Given the description of an element on the screen output the (x, y) to click on. 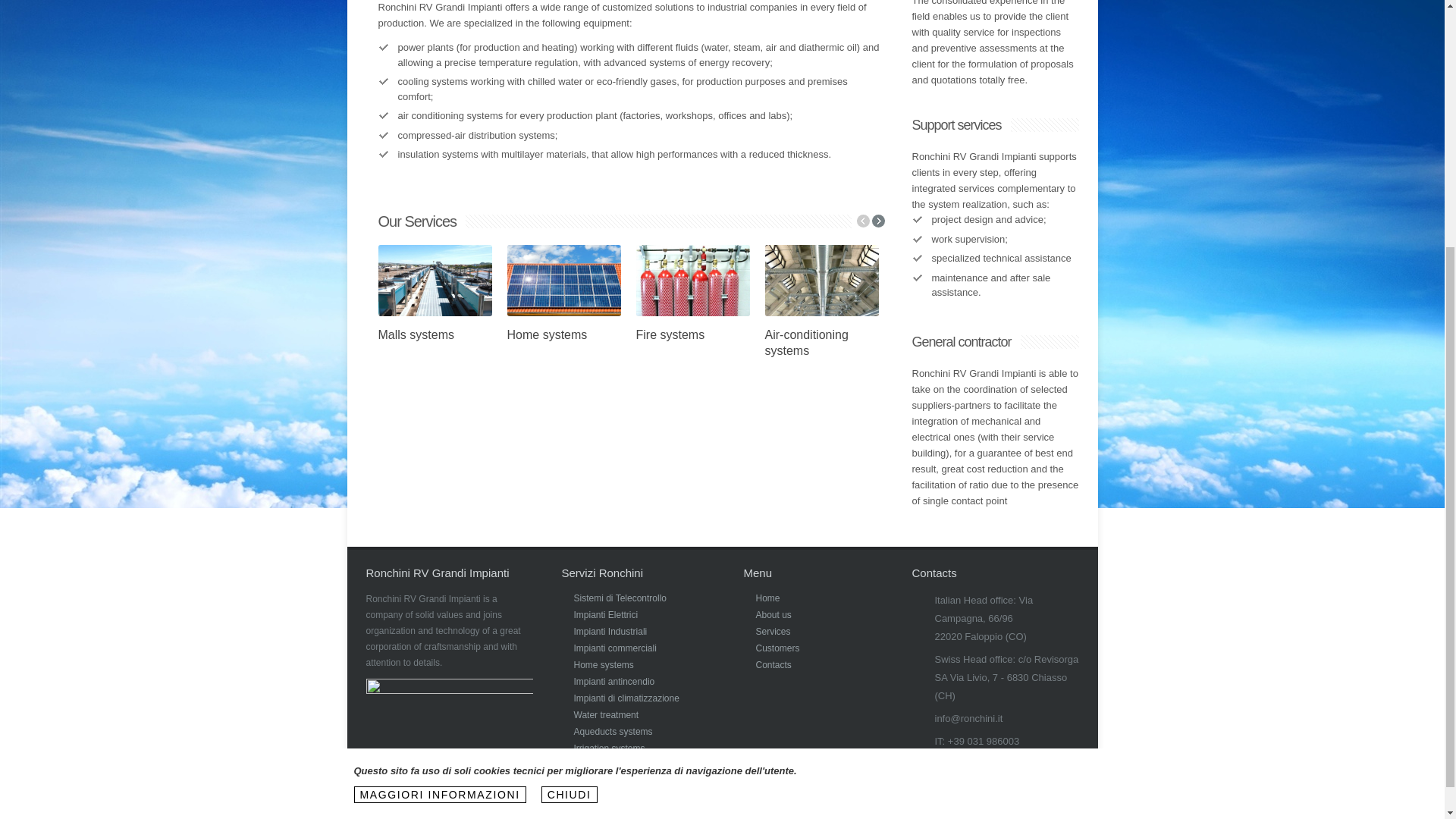
Air-conditioning systems (805, 342)
Fire systems (669, 334)
Home systems (546, 334)
Malls systems (414, 334)
